Given the description of an element on the screen output the (x, y) to click on. 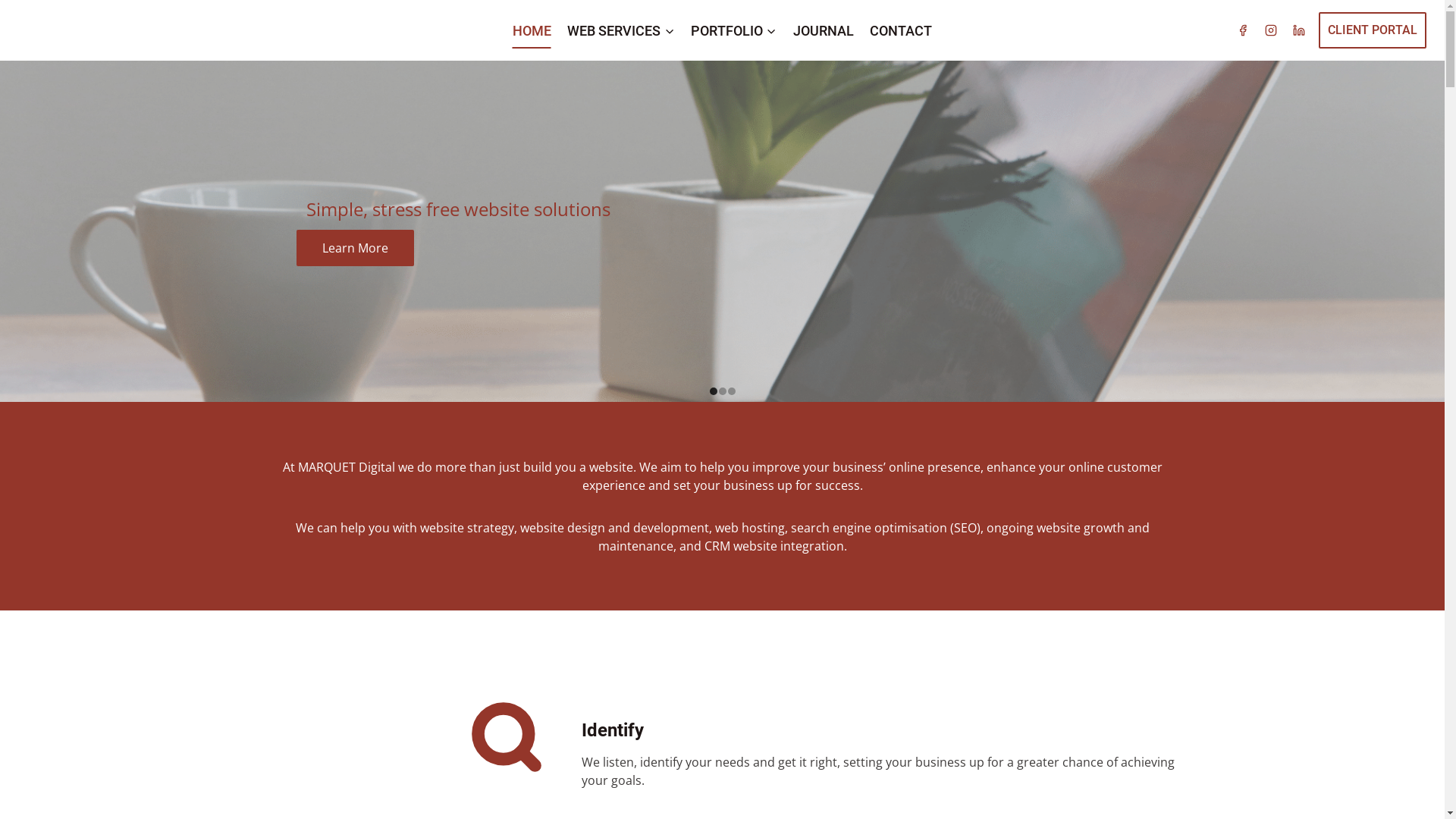
PORTFOLIO Element type: text (733, 30)
WEB SERVICES Element type: text (621, 30)
Learn More Element type: text (354, 247)
JOURNAL Element type: text (823, 30)
HOME Element type: text (531, 30)
CLIENT PORTAL Element type: text (1372, 30)
CONTACT Element type: text (900, 30)
